Given the description of an element on the screen output the (x, y) to click on. 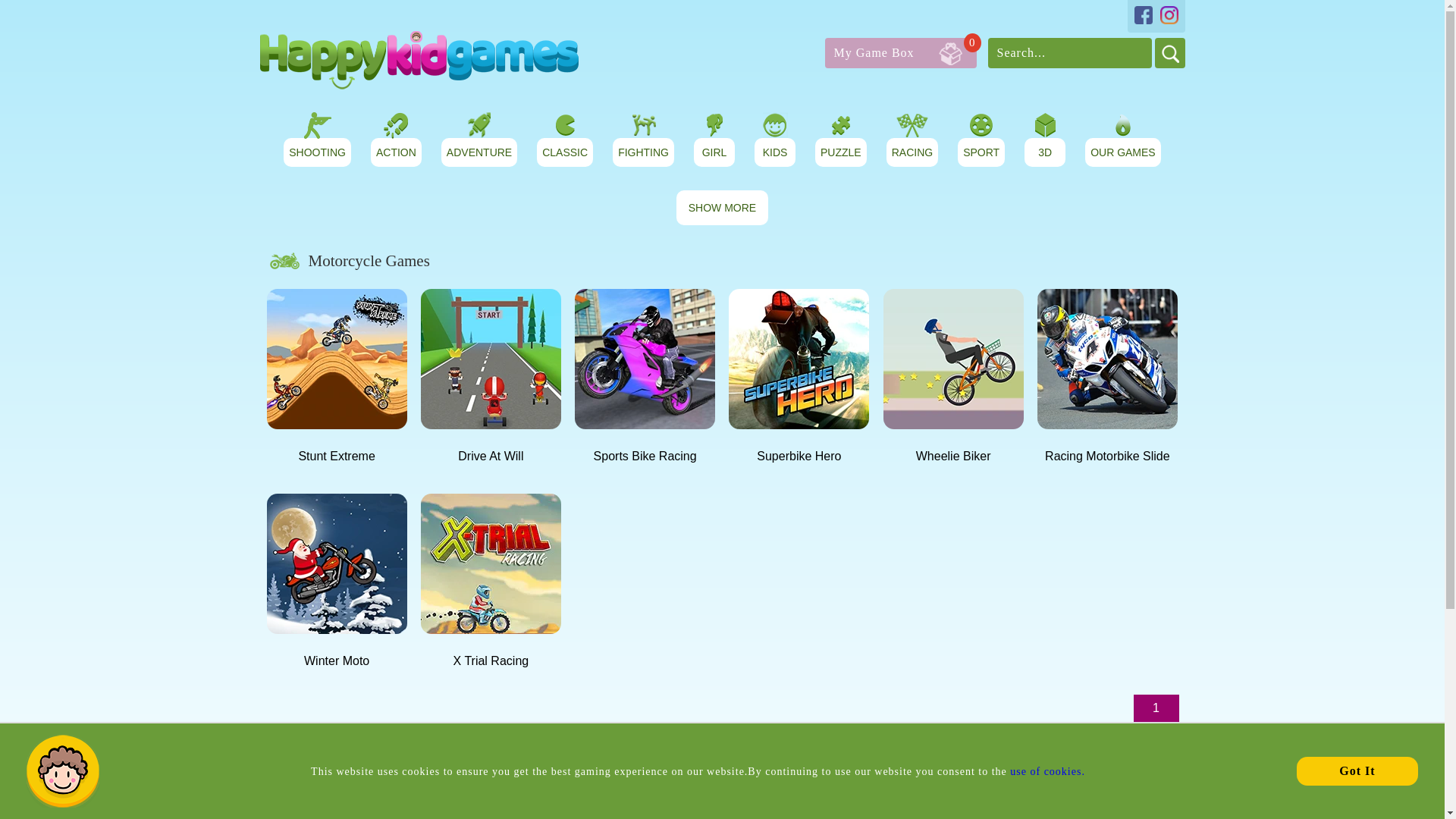
FIGHTING (643, 152)
ACTION (900, 52)
OUR GAMES (395, 152)
GIRL (1122, 152)
SHOW MORE (714, 152)
CLASSIC (721, 207)
KIDS (564, 152)
RACING (775, 152)
PUZZLE (912, 152)
